Given the description of an element on the screen output the (x, y) to click on. 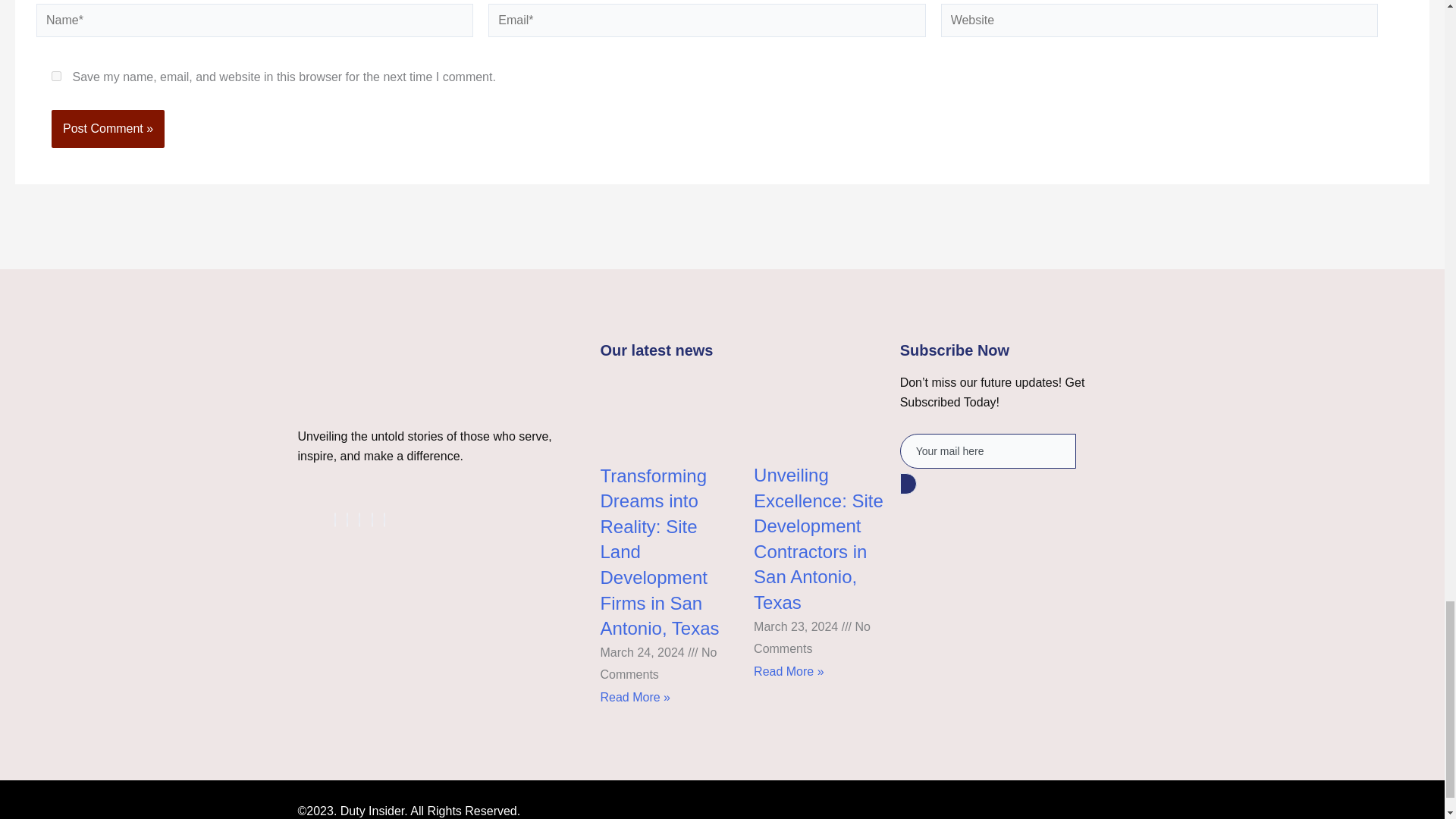
yes (55, 76)
